Given the description of an element on the screen output the (x, y) to click on. 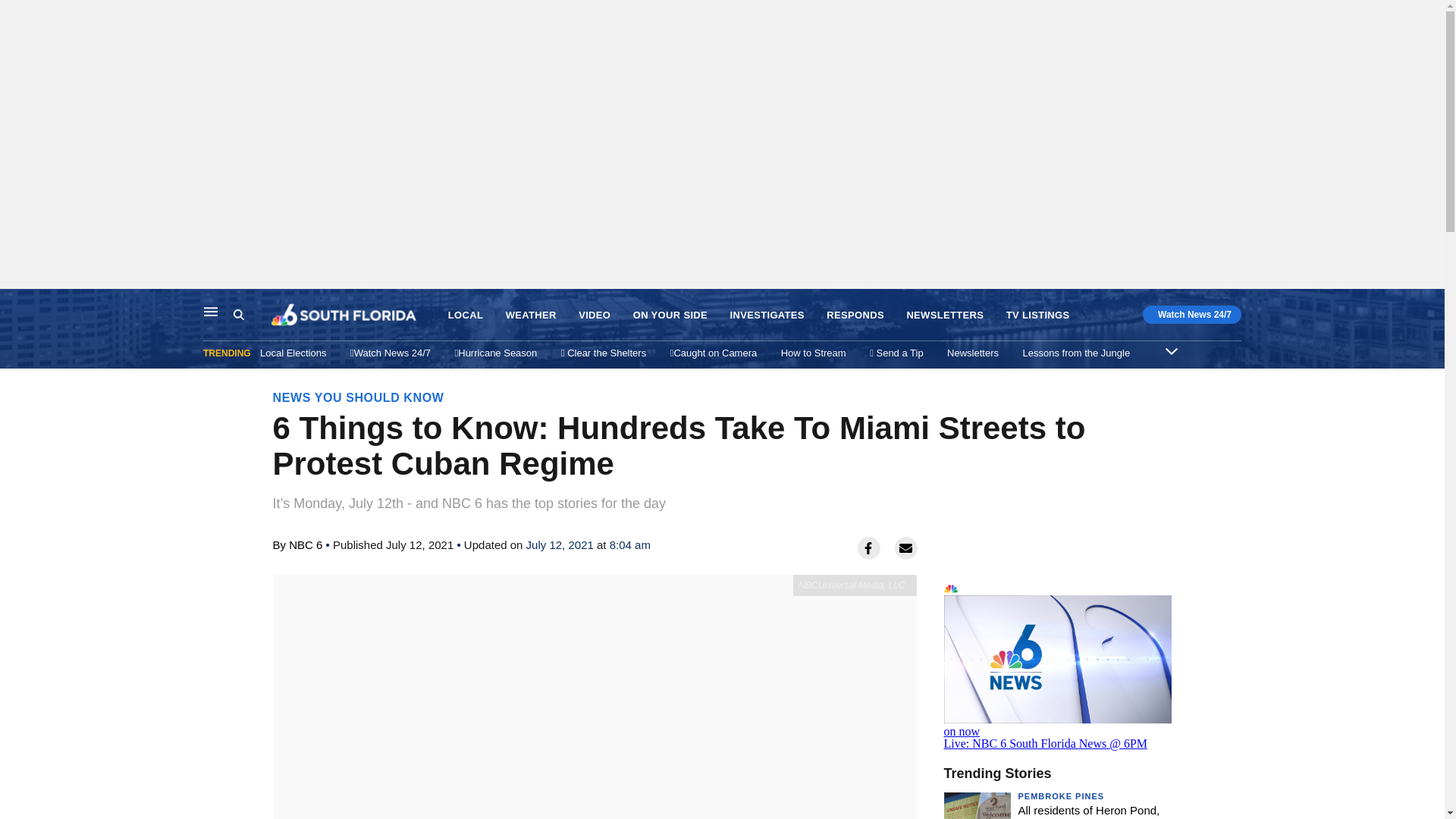
NEWS YOU SHOULD KNOW (358, 397)
Expand (1171, 350)
How to Stream (812, 352)
Search (238, 314)
LOCAL (465, 315)
ON YOUR SIDE (670, 315)
Search (252, 314)
Skip to content (16, 304)
INVESTIGATES (767, 315)
NEWSLETTERS (944, 315)
